Given the description of an element on the screen output the (x, y) to click on. 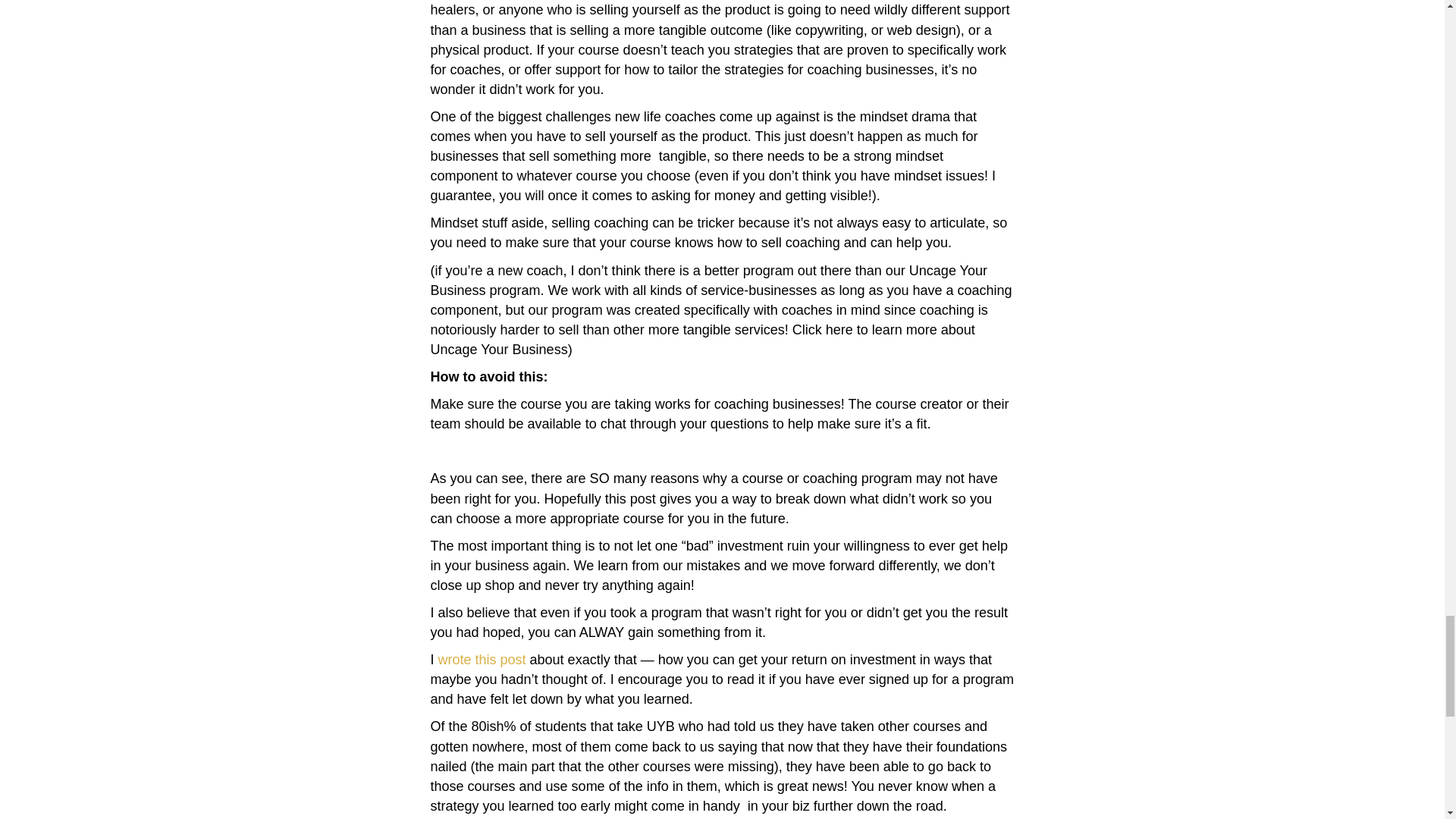
wrote this post (481, 659)
